Given the description of an element on the screen output the (x, y) to click on. 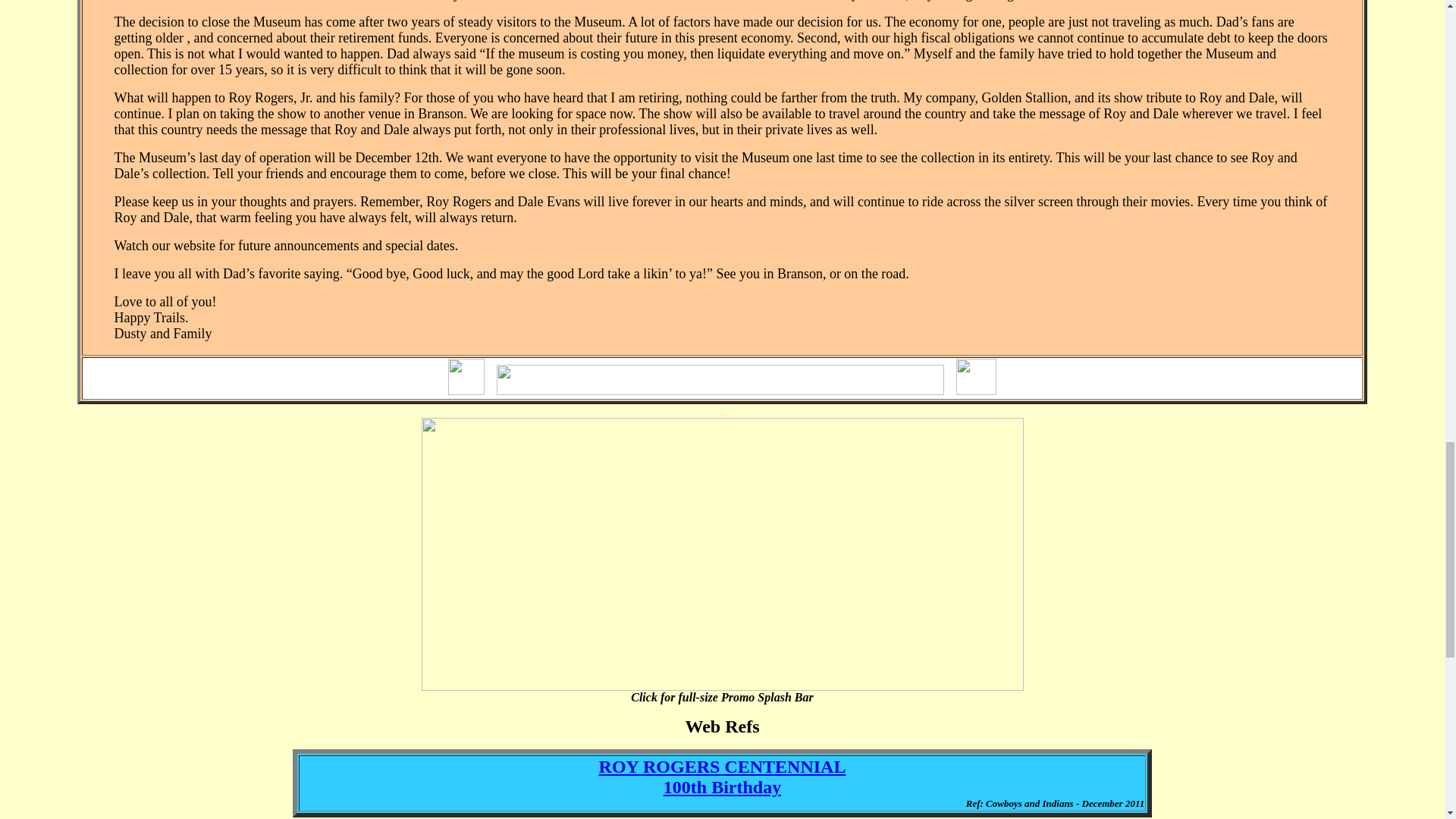
ROY ROGERS CENTENNIAL (721, 766)
100th Birthday (721, 786)
